Given the description of an element on the screen output the (x, y) to click on. 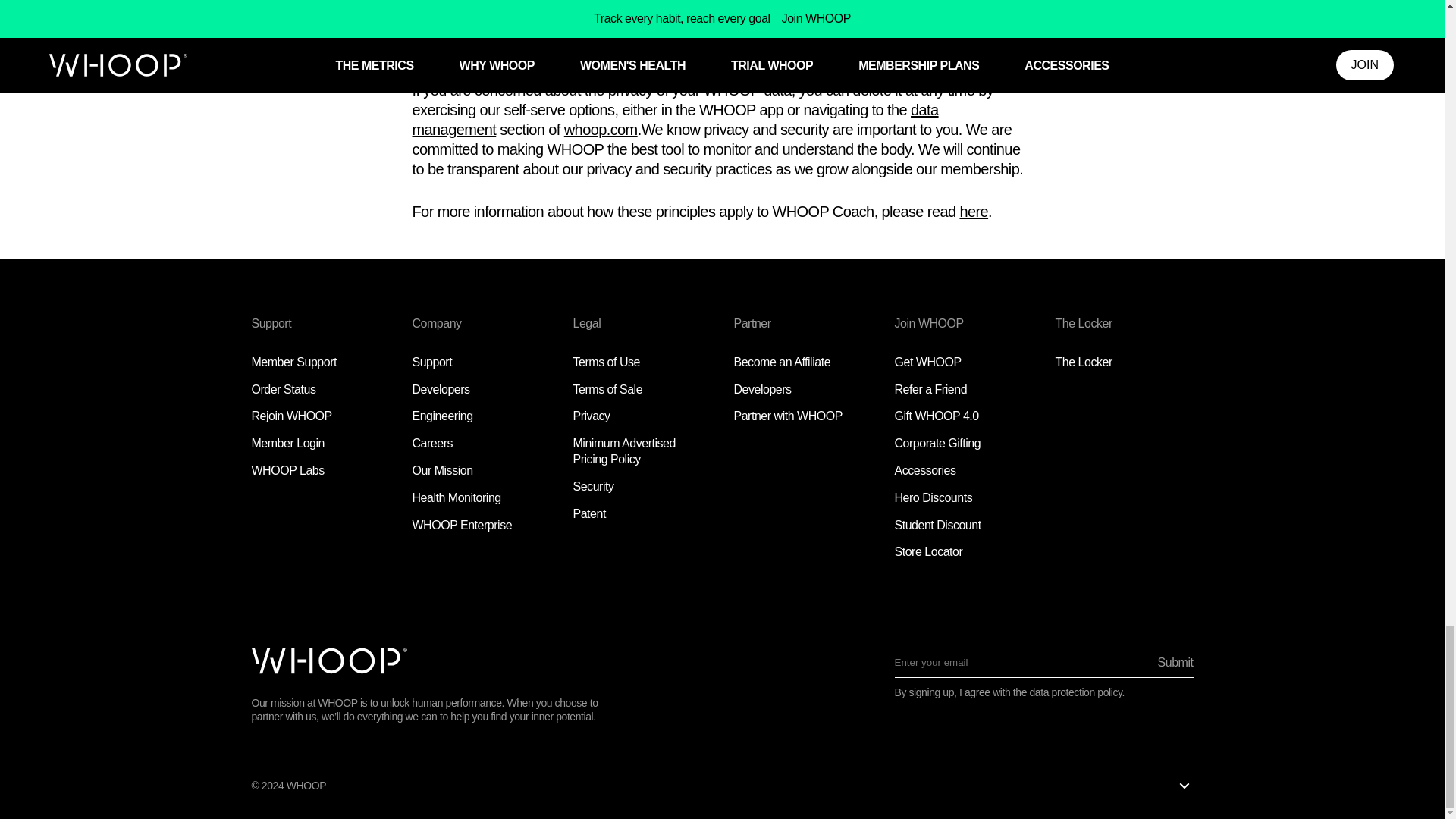
Order Status (283, 389)
Member Support (293, 361)
WHOOP Logo (329, 660)
WHOOP Enterprise (462, 524)
Engineering (442, 415)
Patent (589, 513)
whoop.com (600, 129)
Security (593, 486)
Minimum Advertised Pricing Policy (624, 451)
Support (432, 361)
